Given the description of an element on the screen output the (x, y) to click on. 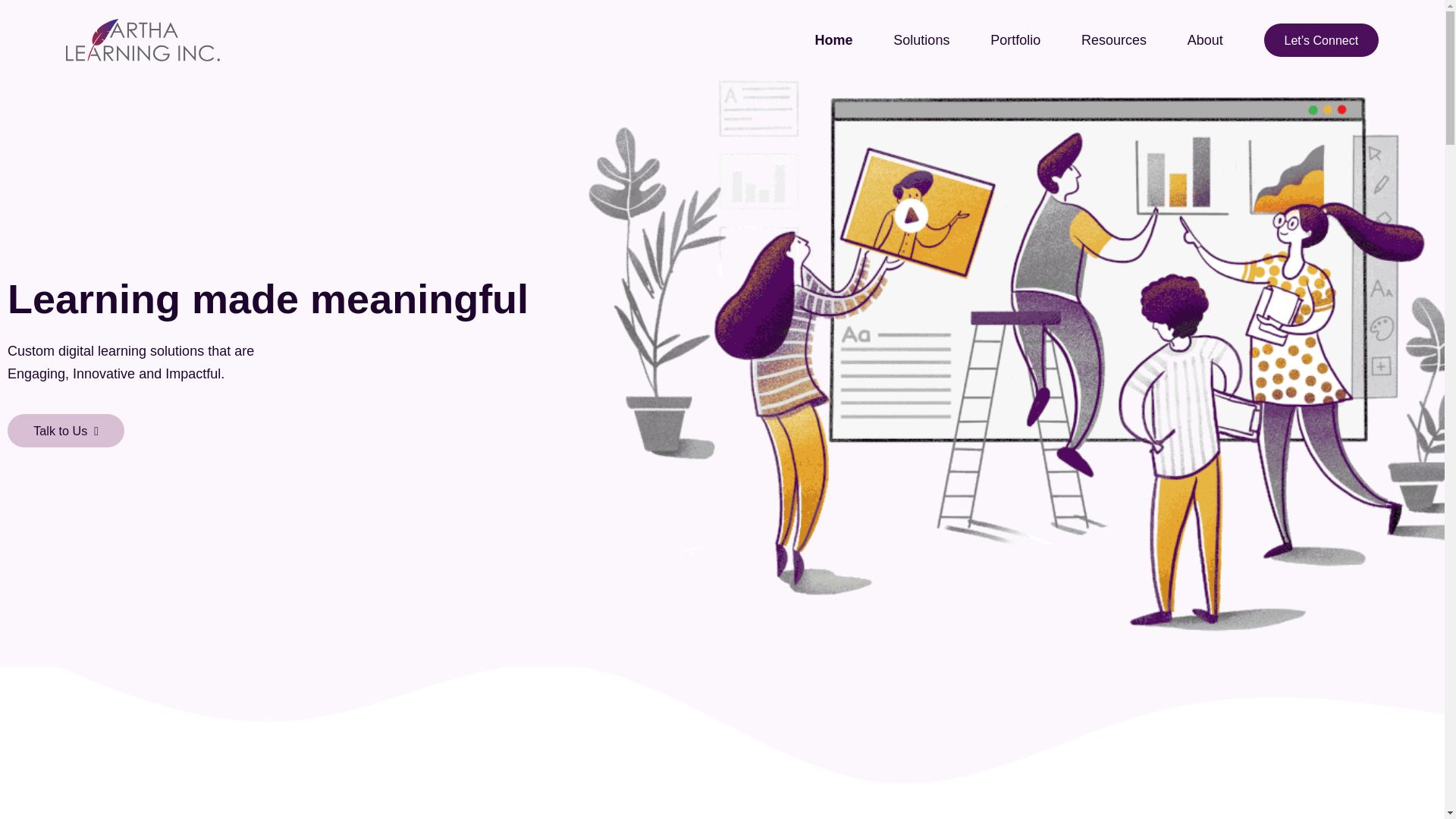
Talk to Us (65, 430)
Portfolio (1015, 40)
Resources (1114, 40)
Solutions (921, 40)
